Given the description of an element on the screen output the (x, y) to click on. 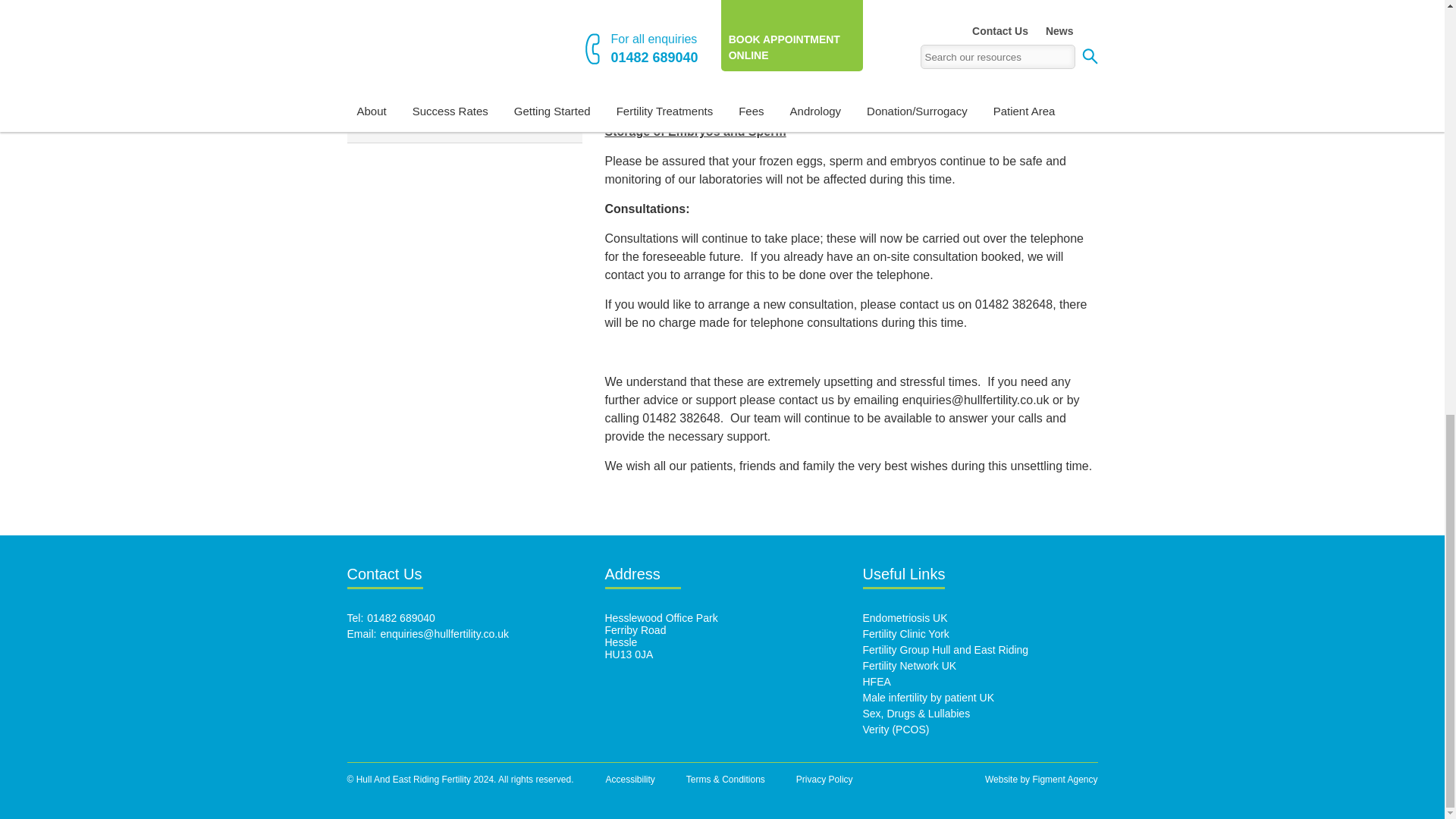
BBC Radio Humberside programme  (917, 713)
The UK Polycystic Ovary Syndrome Charity (896, 729)
Human Fertilisation and Embryology Authority (877, 681)
